Given the description of an element on the screen output the (x, y) to click on. 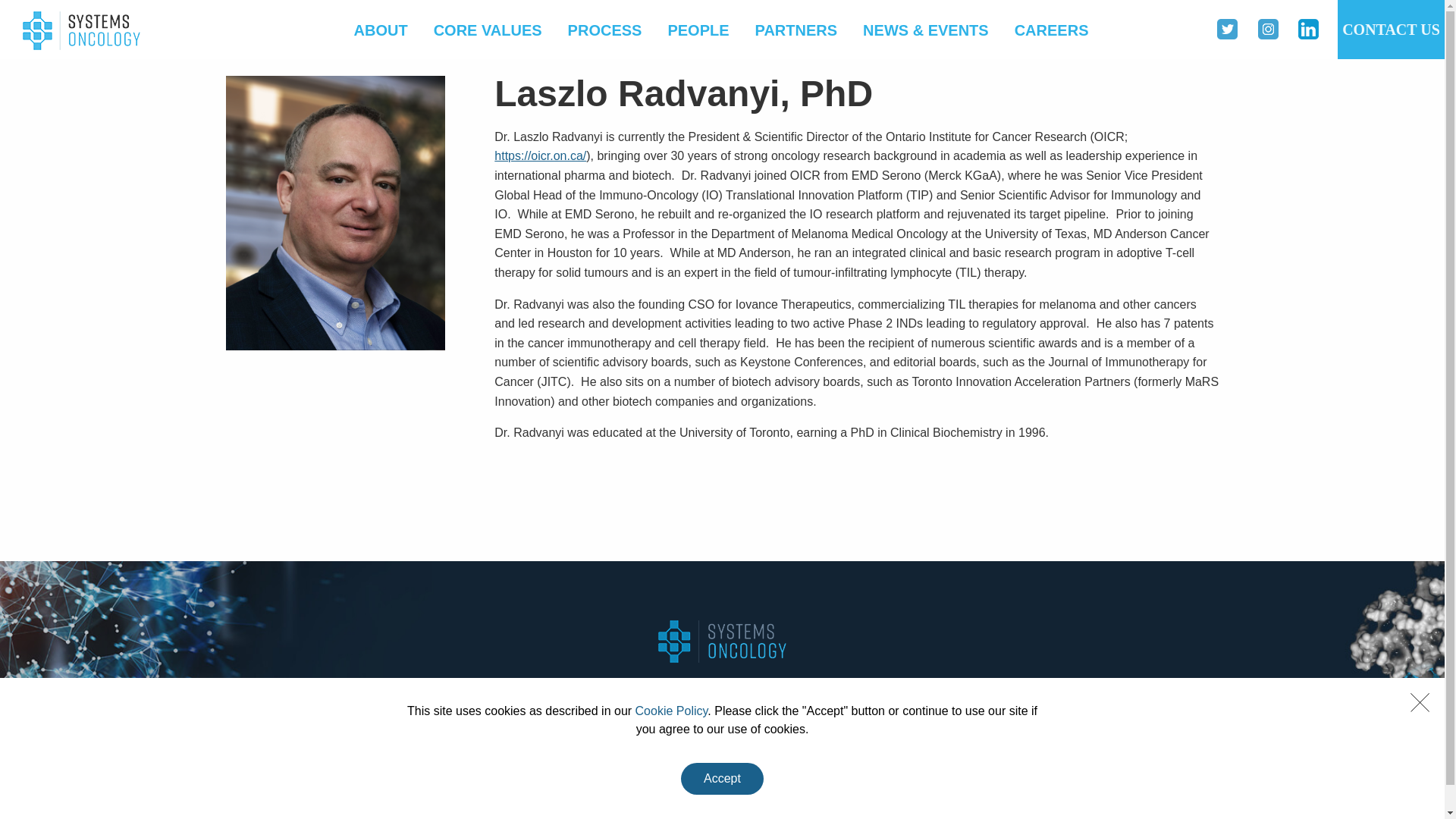
CAREERS (1051, 30)
Accept (721, 778)
PARTNERS (796, 30)
CORE VALUES (492, 703)
CORE VALUES (487, 30)
PROCESS (604, 30)
ABOUT (386, 703)
Laszlo Radvanyi, PhD (360, 288)
Cookie Policy (670, 710)
PROCESS (606, 703)
CAREERS (1049, 703)
PEOPLE (697, 30)
PARTNERS (795, 703)
ABOUT (380, 30)
systems-oncology (81, 29)
